Given the description of an element on the screen output the (x, y) to click on. 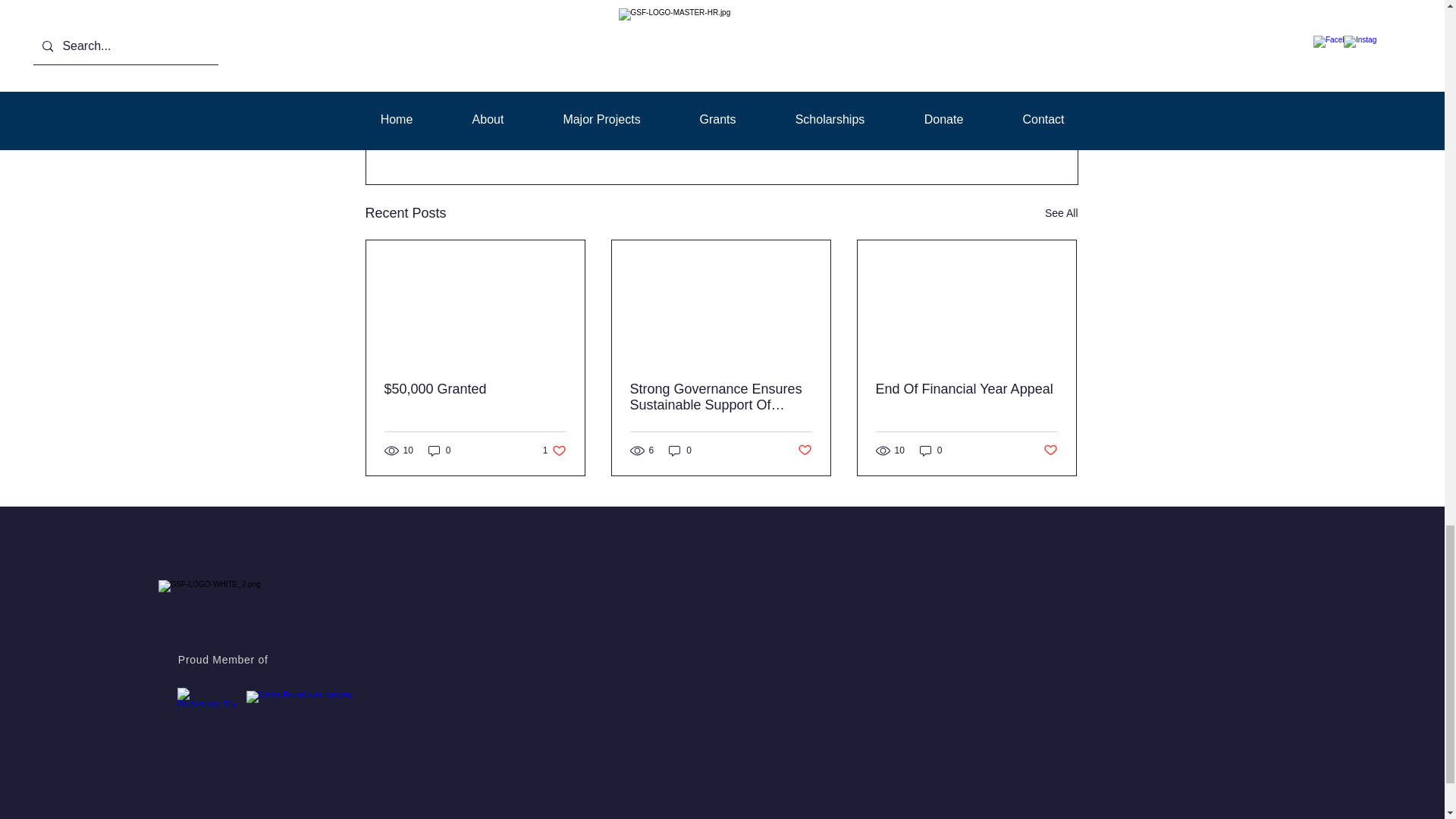
0 (439, 450)
See All (1061, 213)
Post not marked as liked (804, 450)
0 (554, 450)
Post not marked as liked (679, 450)
Strong Governance Ensures Sustainable Support Of Community (994, 130)
